Given the description of an element on the screen output the (x, y) to click on. 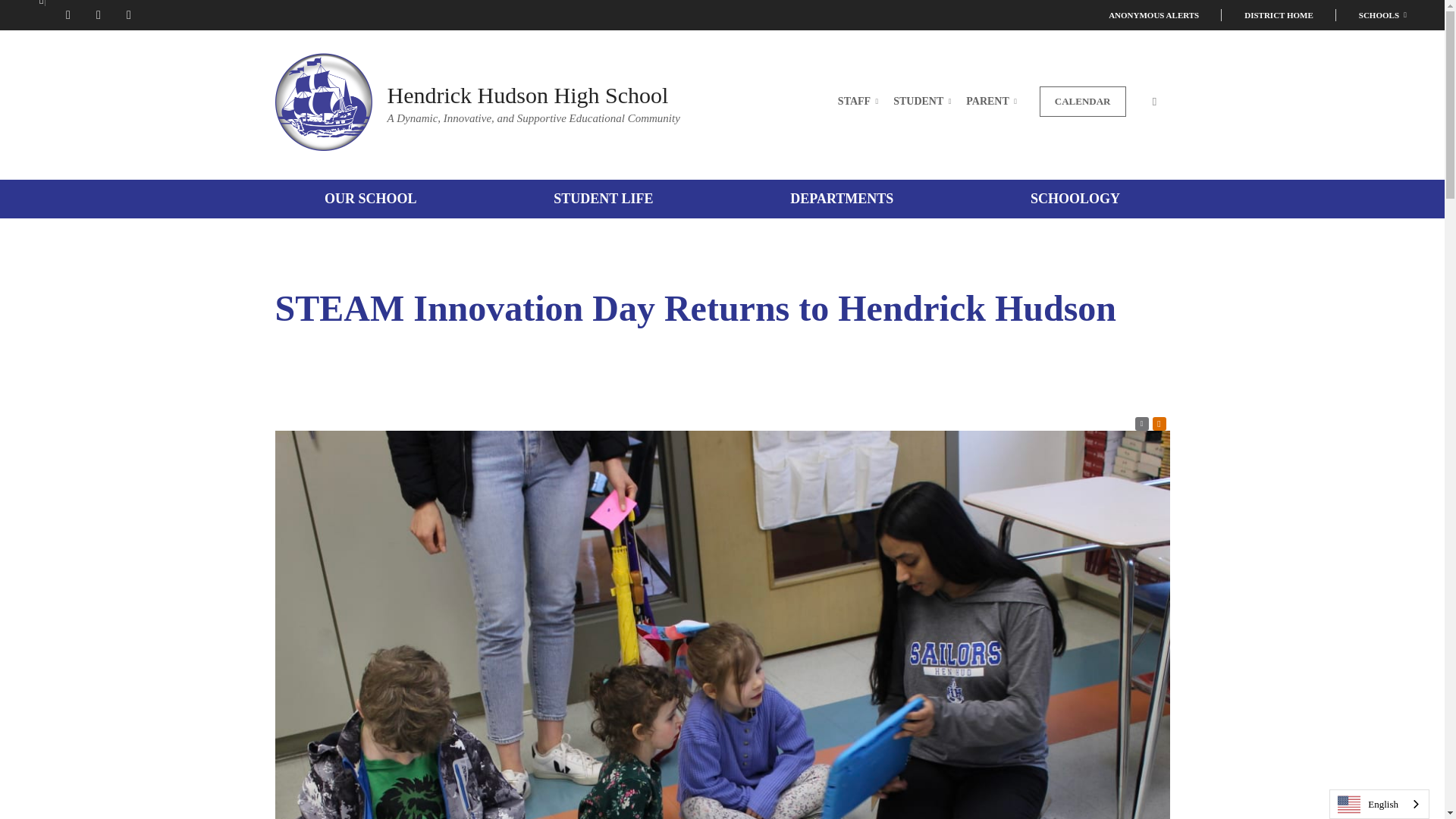
Alerts (1159, 423)
RSS (1141, 423)
